Given the description of an element on the screen output the (x, y) to click on. 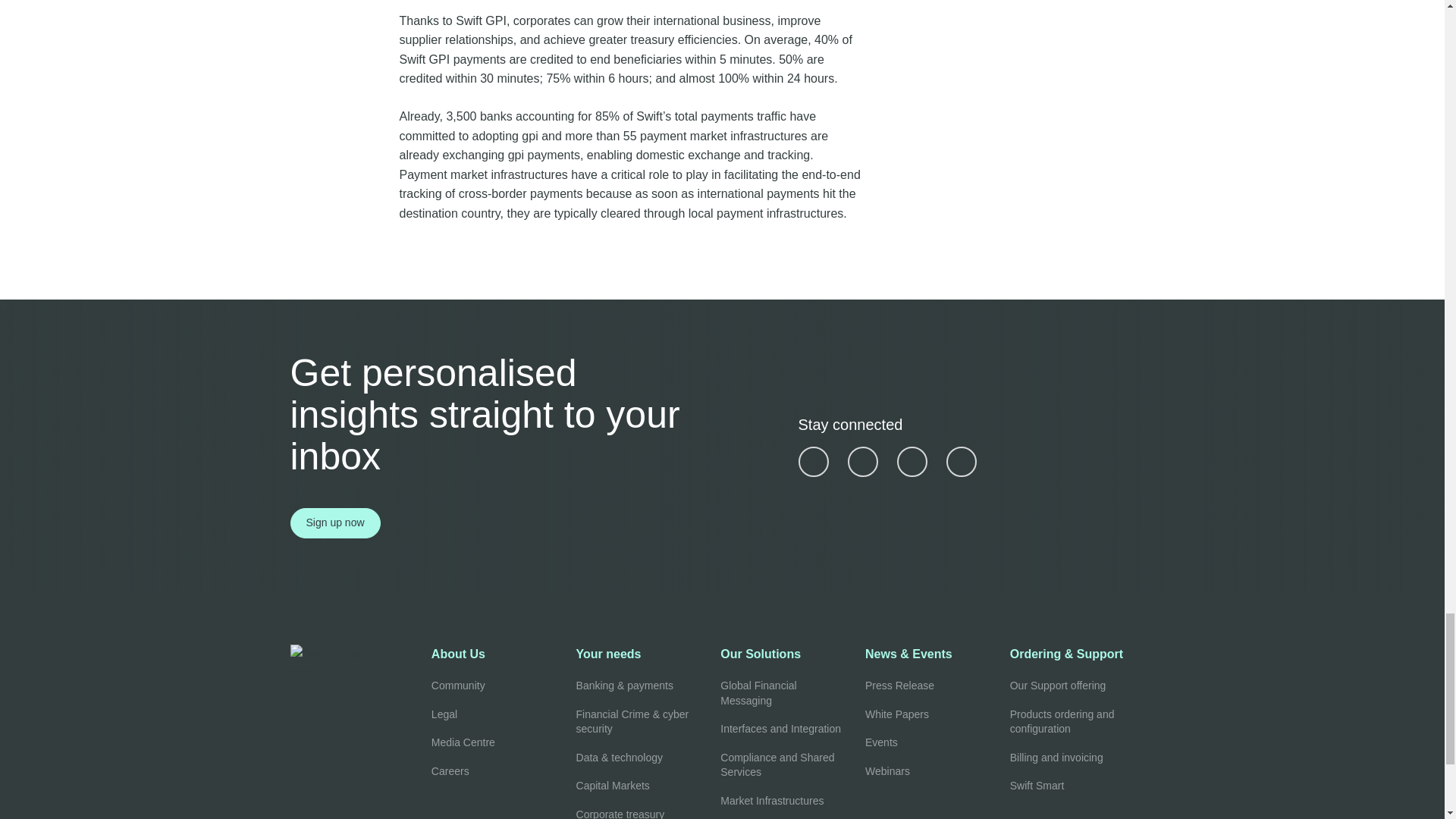
Swift footer logo (359, 663)
